Given the description of an element on the screen output the (x, y) to click on. 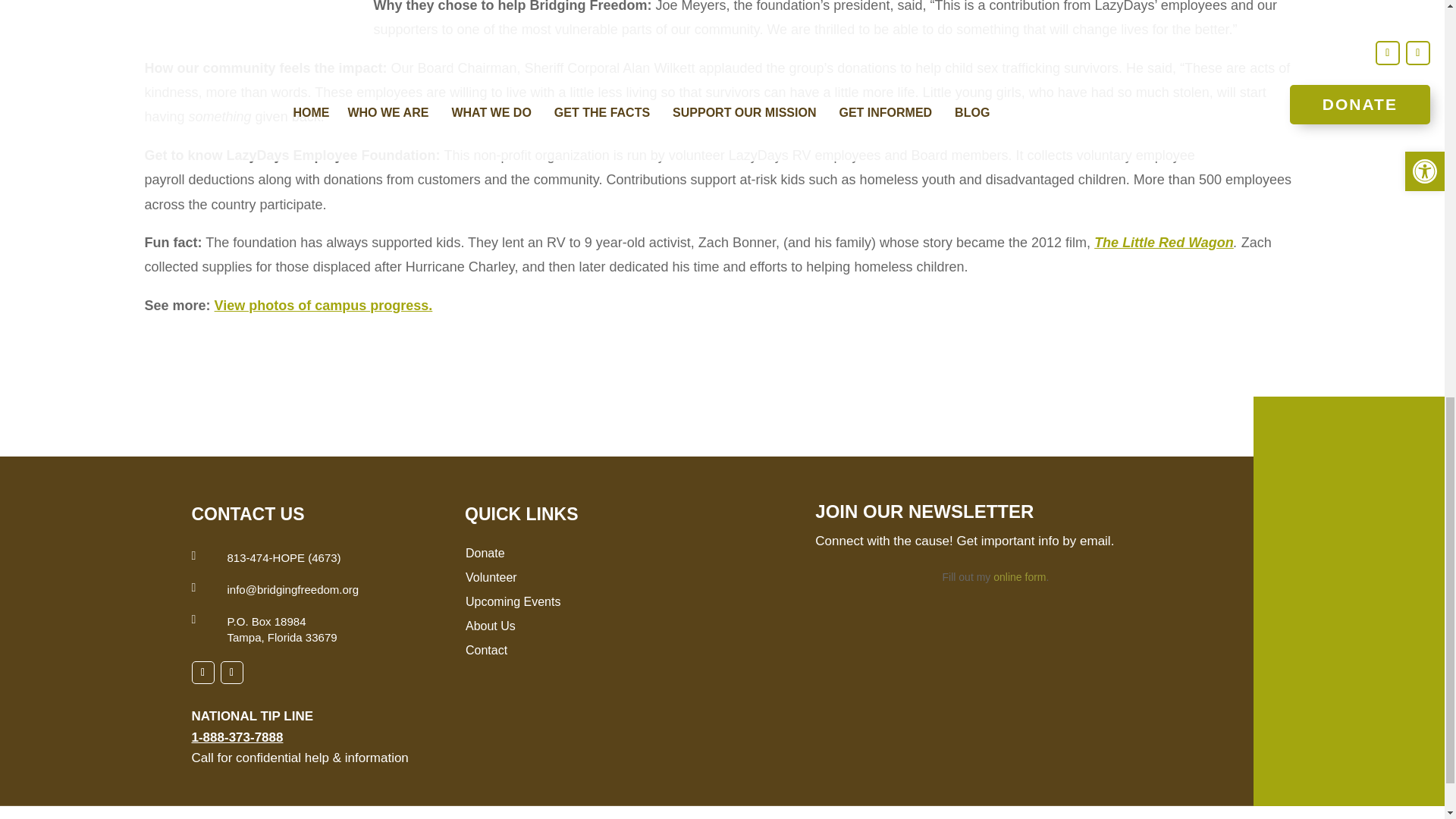
Follow on Instagram (231, 671)
Follow on Facebook (202, 671)
